Given the description of an element on the screen output the (x, y) to click on. 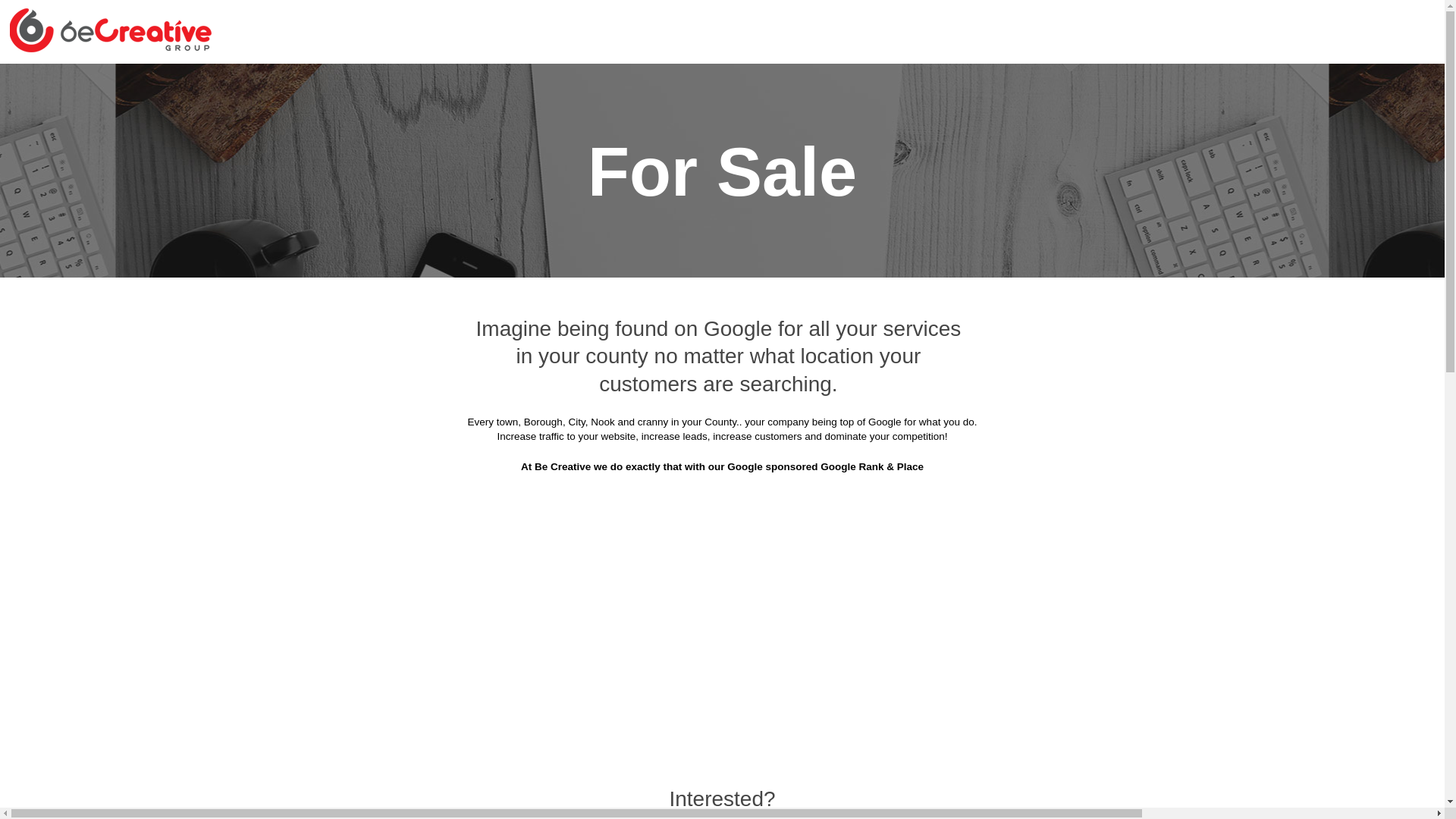
Aggregate Suppliers Cranbrook Devon (1078, 234)
Aggregate Suppliers Dartmouth Devon (443, 271)
Aggregate Suppliers Honiton Devon (405, 383)
Aggregate Suppliers Ilfracombe Devon (625, 383)
Aggregate Suppliers Camelford Cornwall (390, 234)
Aggregate Suppliers Barnstaple Devon (395, 121)
Groundworks and Plant Hire (358, 45)
Aggregate Suppliers Budleigh Salterton Devon (582, 196)
Aggregate Suppliers Holsworthy Devon (1076, 346)
Aggregate Suppliers Ivybridge Devon (848, 383)
Aggregate Suppliers Kingsbridge Devon (1074, 383)
Aggregate Suppliers Fowey Cornwall (824, 309)
Aggregate Suppliers Exeter Devon (870, 271)
Aggregate Suppliers Kingsteignton Devon (388, 422)
Aggregate Suppliers Bude Cornwall (1086, 158)
